Given the description of an element on the screen output the (x, y) to click on. 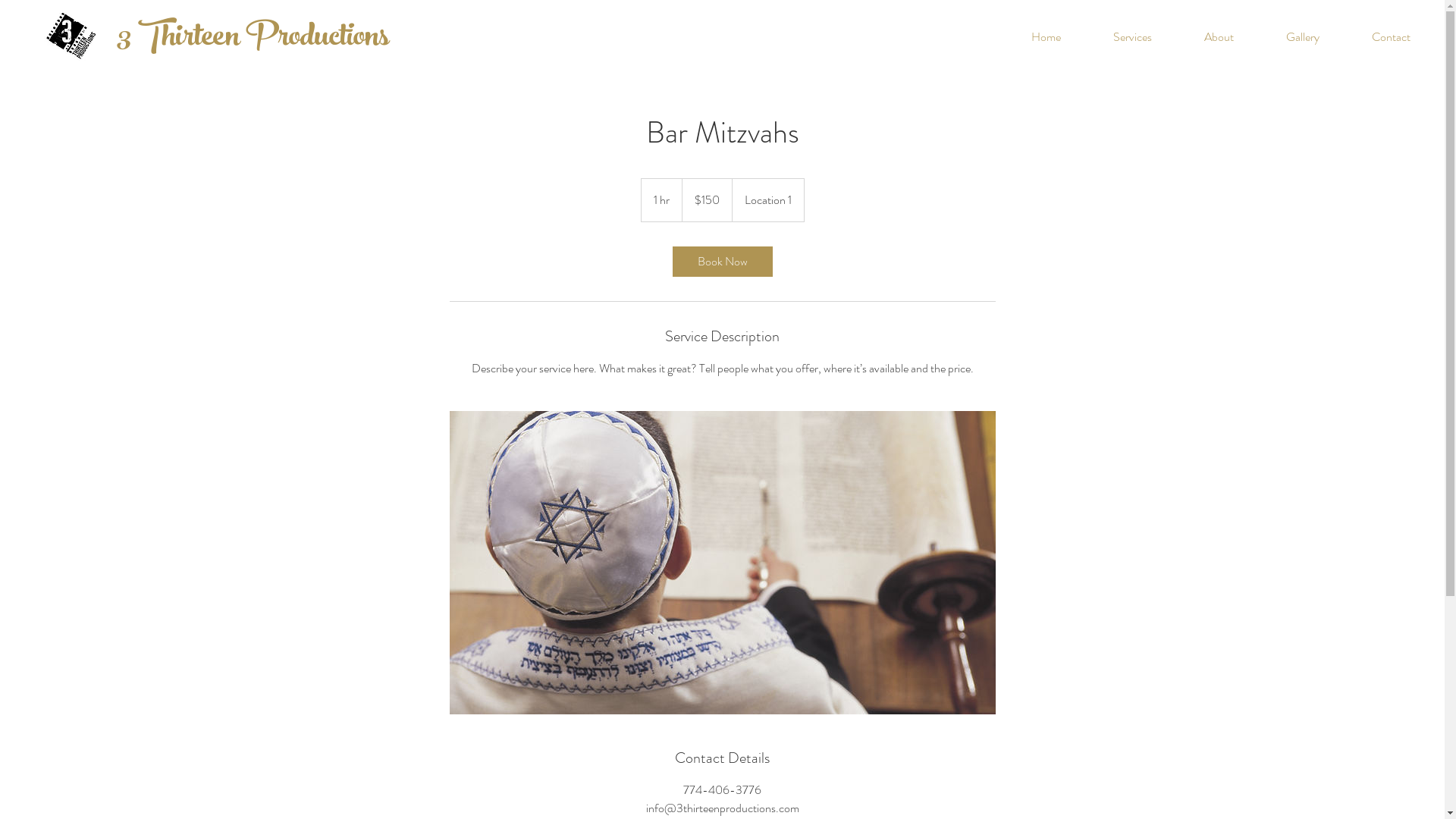
Contact Element type: text (1390, 37)
Gallery Element type: text (1303, 37)
About Element type: text (1219, 37)
3 Thirteen Productions Element type: text (253, 39)
Services Element type: text (1132, 37)
Book Now Element type: text (721, 261)
Home Element type: text (1046, 37)
